Given the description of an element on the screen output the (x, y) to click on. 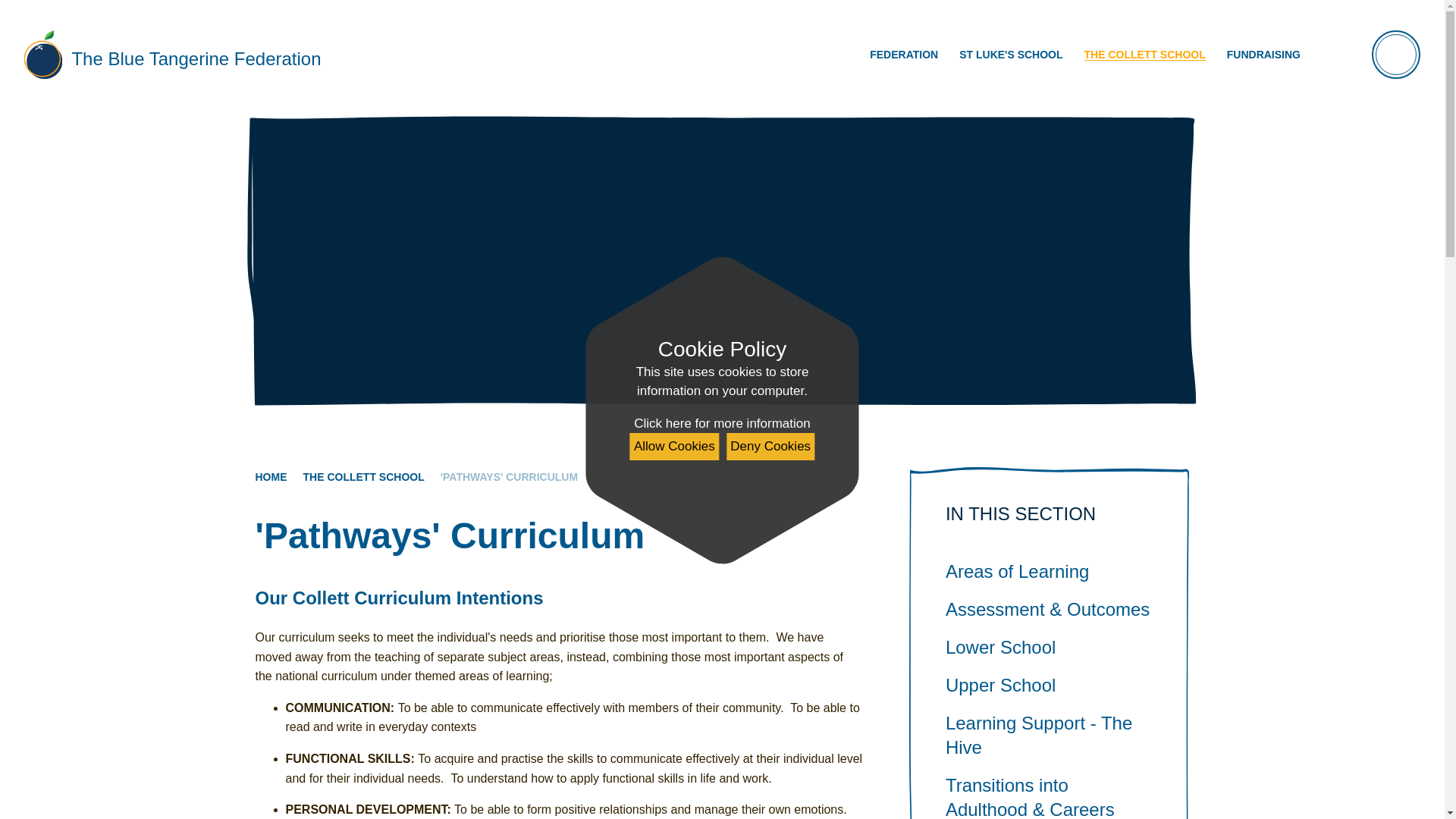
See cookie policy (721, 424)
Allow Cookies (674, 446)
FEDERATION (904, 54)
Deny Cookies (769, 446)
